Given the description of an element on the screen output the (x, y) to click on. 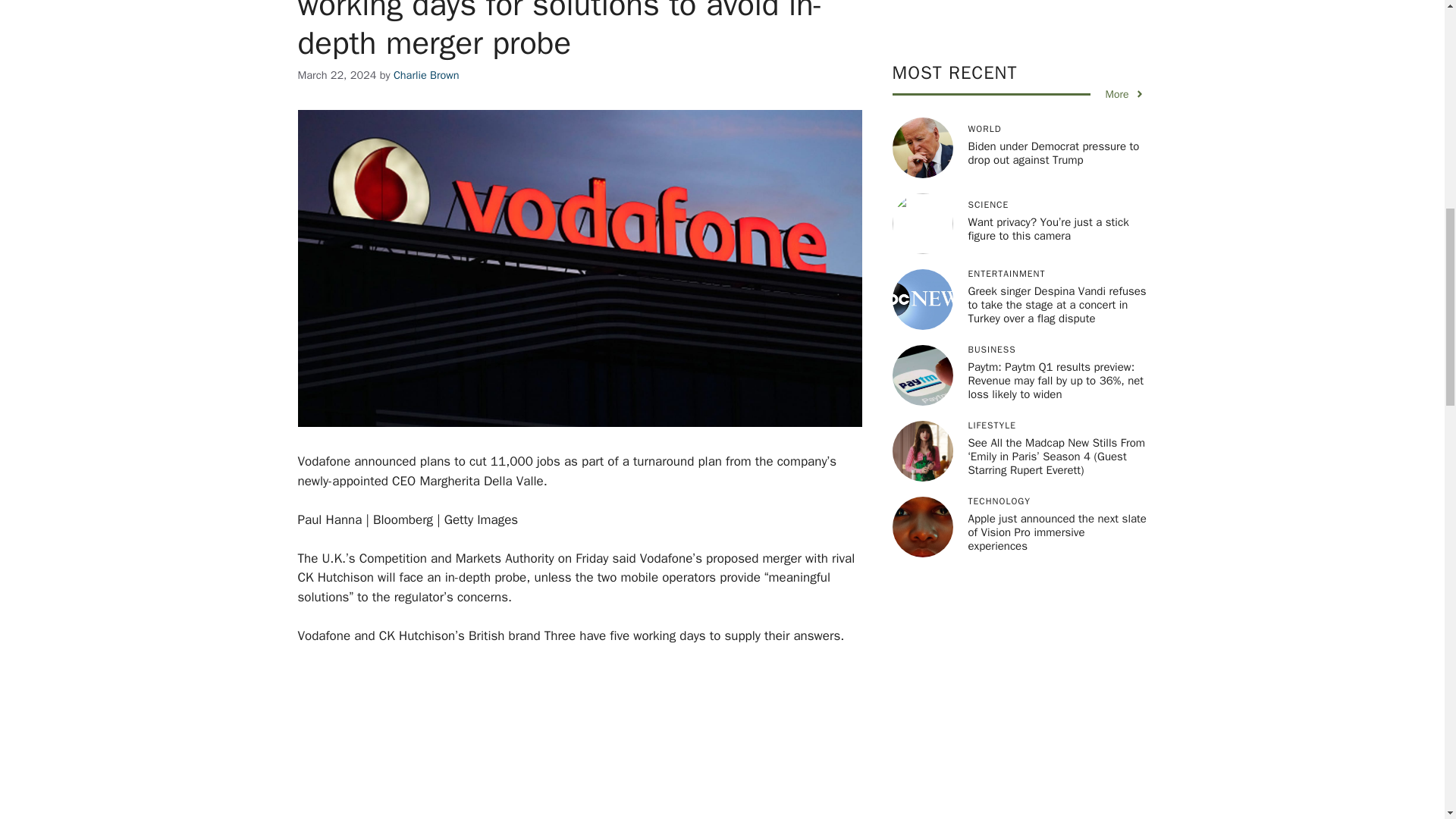
Charlie Brown (426, 74)
View all posts by Charlie Brown (426, 74)
Advertisement (600, 742)
